Given the description of an element on the screen output the (x, y) to click on. 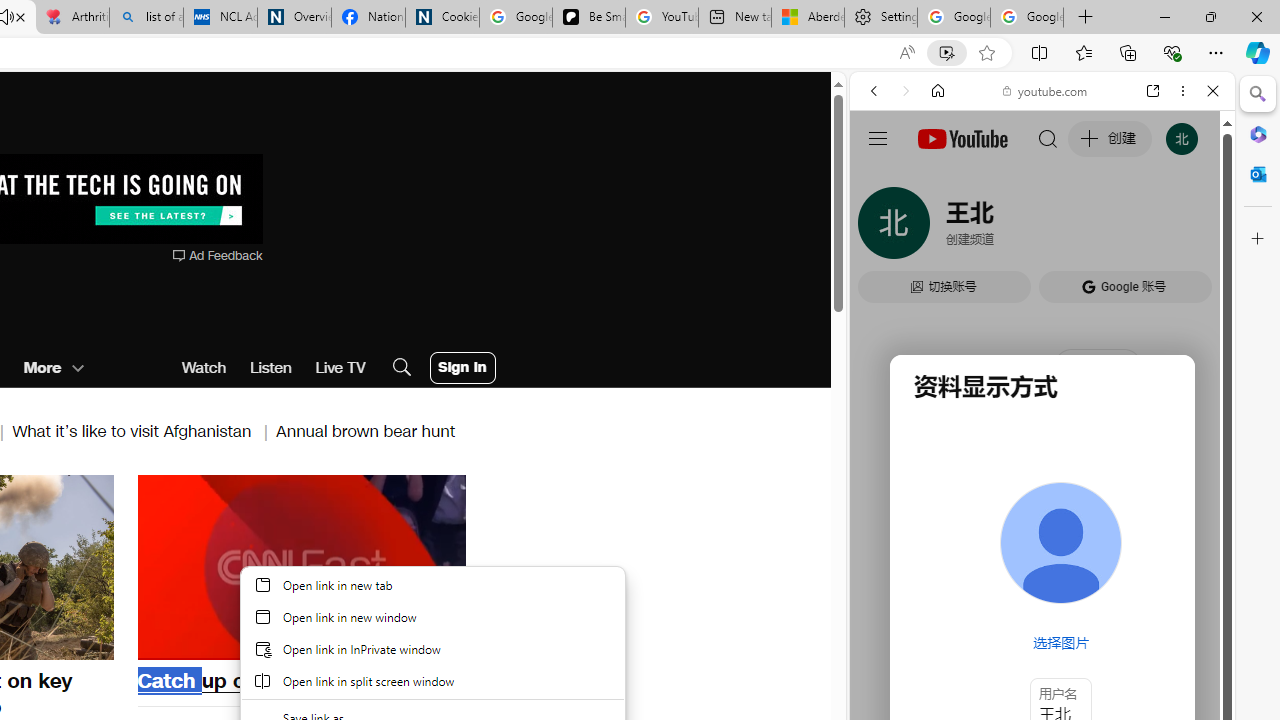
Cookies (441, 17)
Music (1042, 543)
This site scope (936, 180)
Open link in split screen window (432, 680)
Backward 10 seconds (241, 566)
Arthritis: Ask Health Professionals (71, 17)
Captions Unavailable (350, 642)
